Given the description of an element on the screen output the (x, y) to click on. 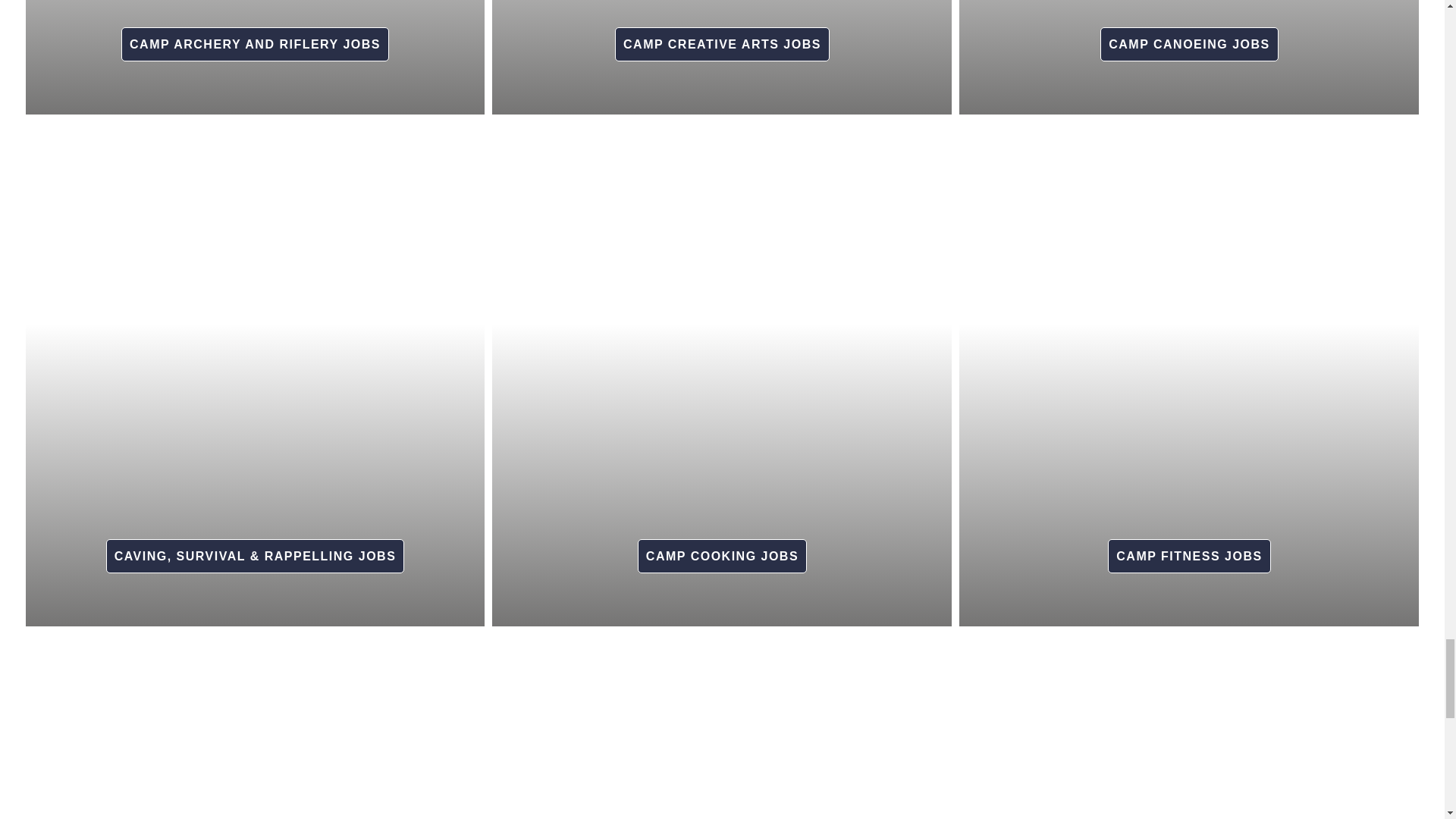
CAMP COOKING JOBS (721, 550)
CAMP FITNESS JOBS (1188, 550)
CAMP CREATIVE ARTS JOBS (721, 38)
CAMP CANOEING JOBS (1188, 38)
CAMP ARCHERY AND RIFLERY JOBS (255, 38)
